Given the description of an element on the screen output the (x, y) to click on. 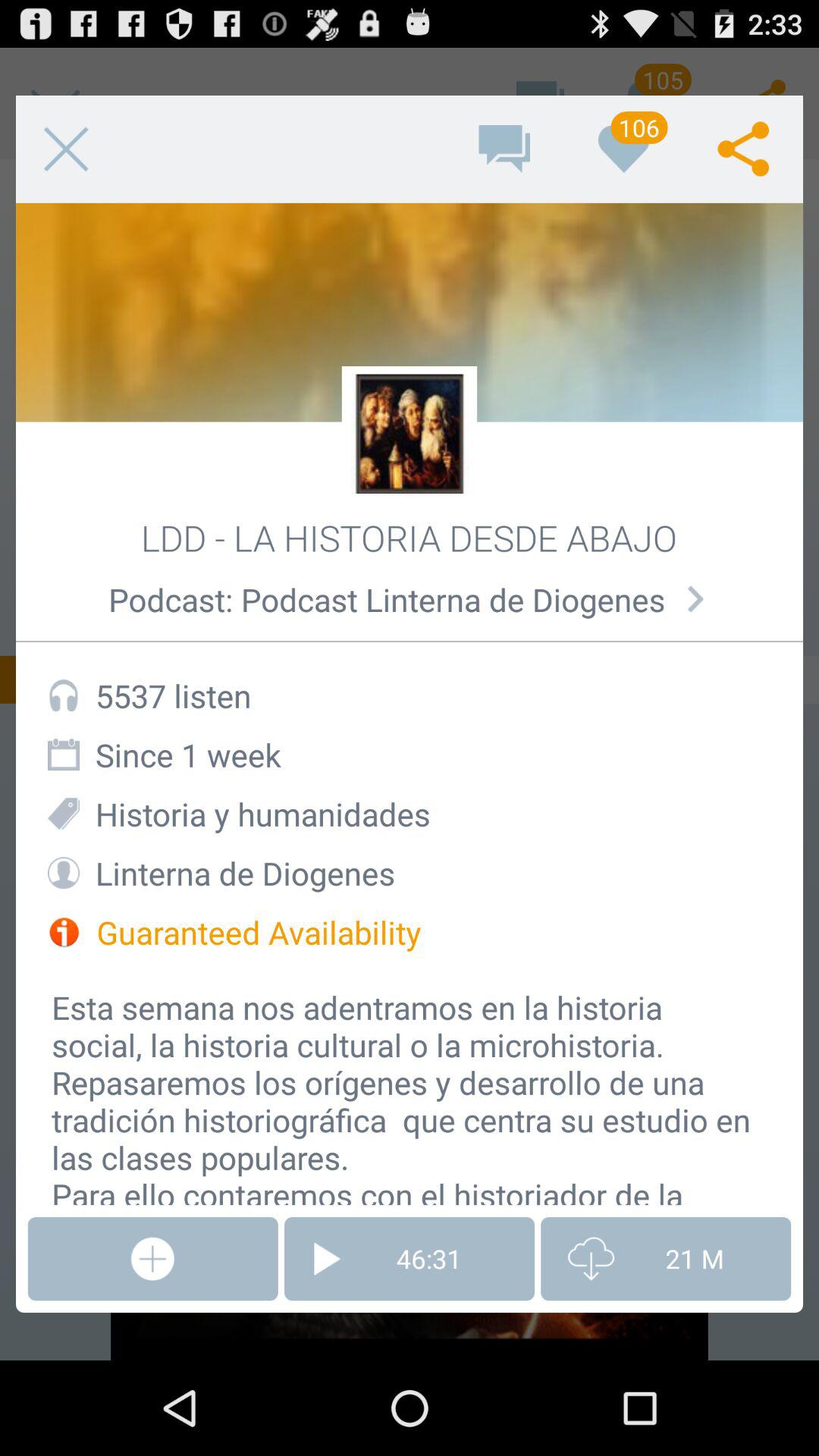
launch the 46:31 icon (409, 1258)
